Given the description of an element on the screen output the (x, y) to click on. 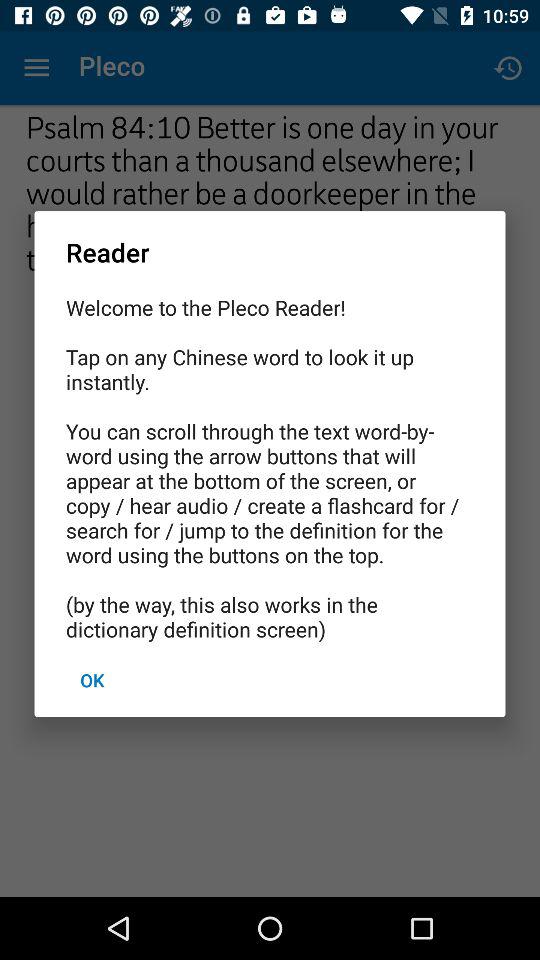
scroll until the ok item (92, 679)
